Given the description of an element on the screen output the (x, y) to click on. 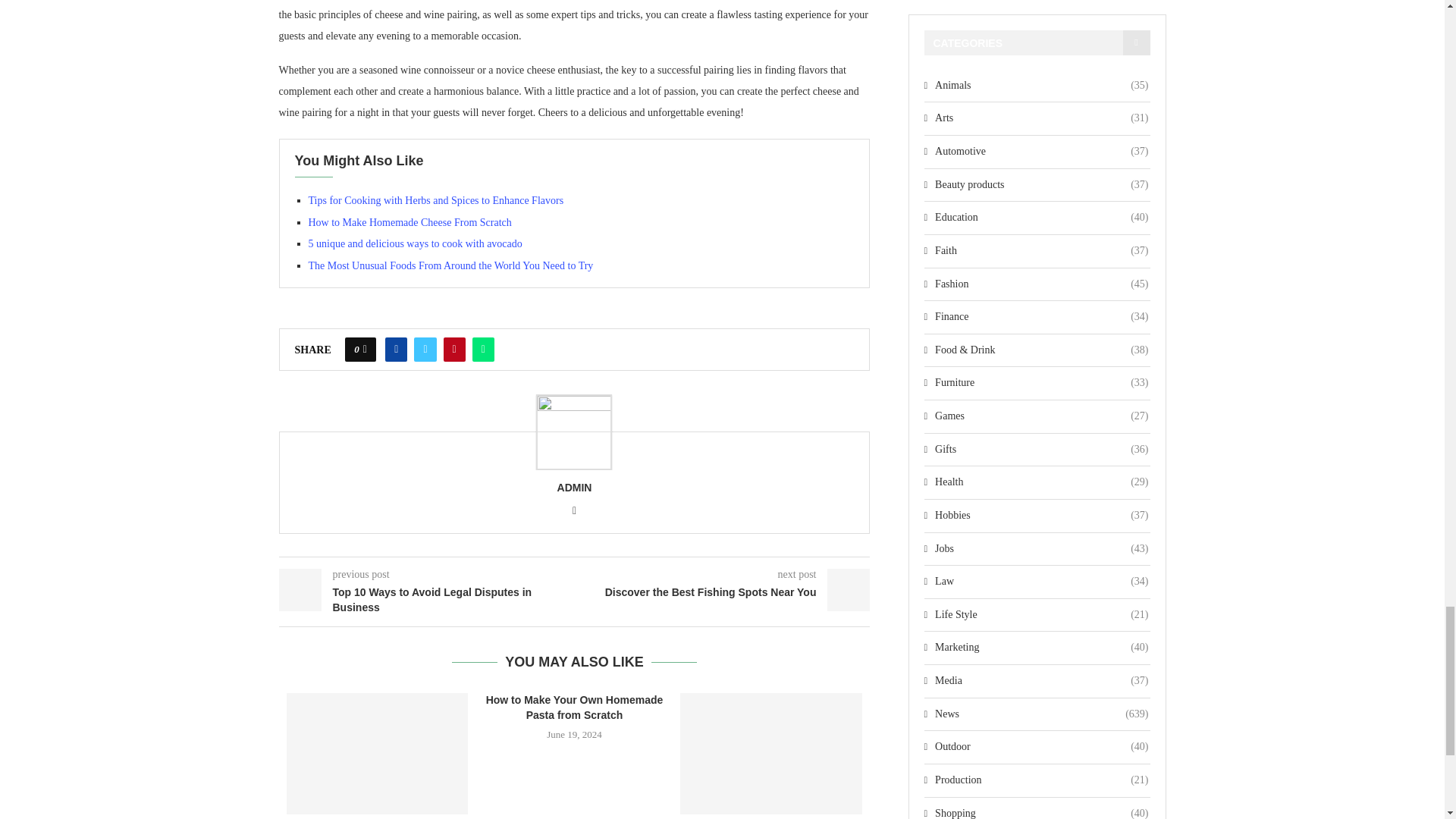
10 Healthy and Delicious Snack Ideas for Kids (377, 753)
How to Make Your Own Homemade Pasta from Scratch (574, 707)
The Most Unusual Foods From Around the World You Need to Try (449, 265)
Author admin (574, 487)
Unforgettable Desserts from Around the World (770, 753)
ADMIN (574, 487)
How to Make Homemade Cheese From Scratch (409, 222)
Tips for Cooking with Herbs and Spices to Enhance Flavors (435, 200)
Top 10 Ways to Avoid Legal Disputes in Business (427, 600)
5 unique and delicious ways to cook with avocado (414, 243)
